Given the description of an element on the screen output the (x, y) to click on. 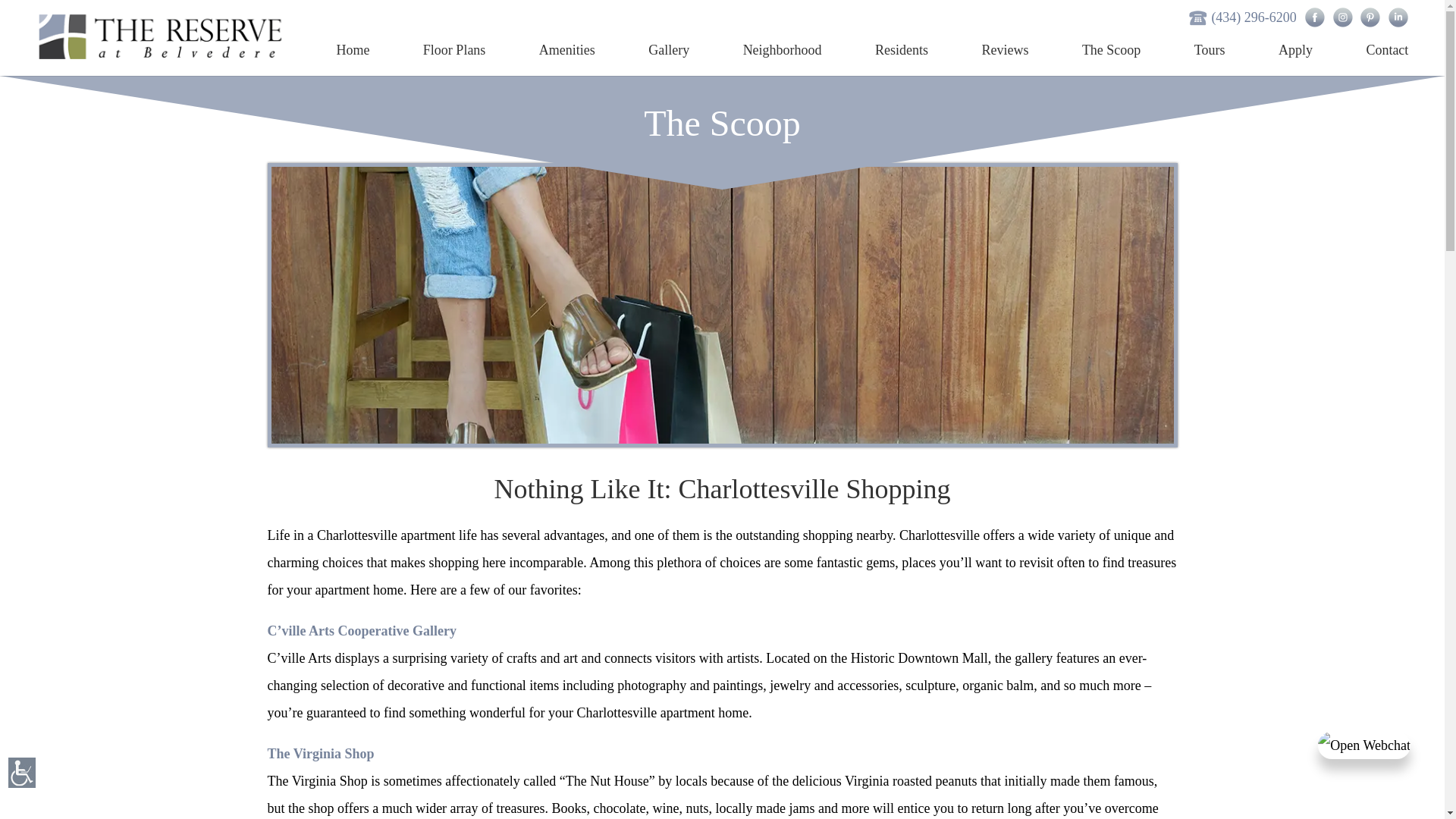
Accessibility Helper sidebar (22, 773)
